Given the description of an element on the screen output the (x, y) to click on. 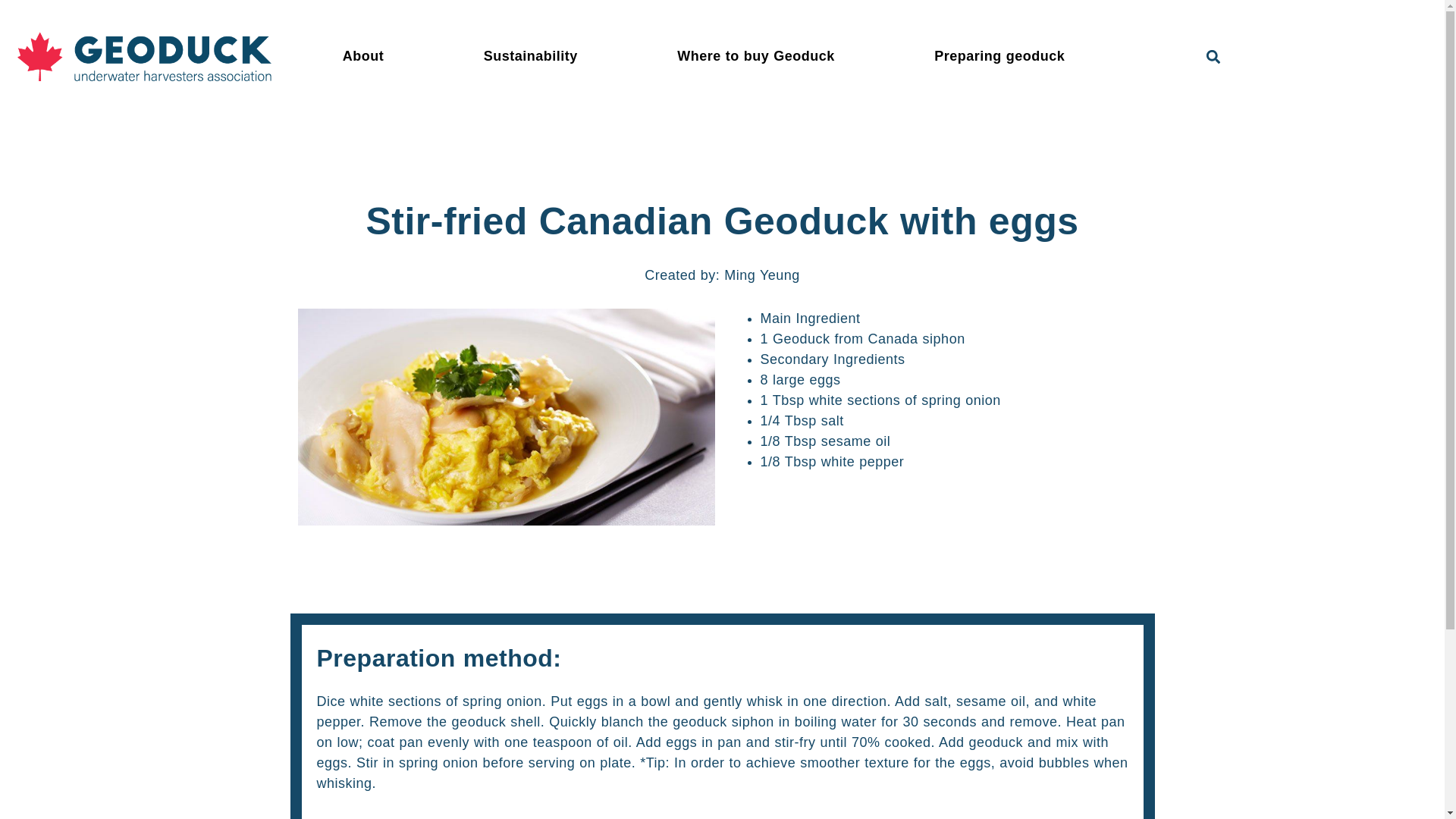
Where to buy Geoduck (759, 56)
About (367, 56)
Preparing geoduck (1003, 56)
Sustainability (534, 56)
